Given the description of an element on the screen output the (x, y) to click on. 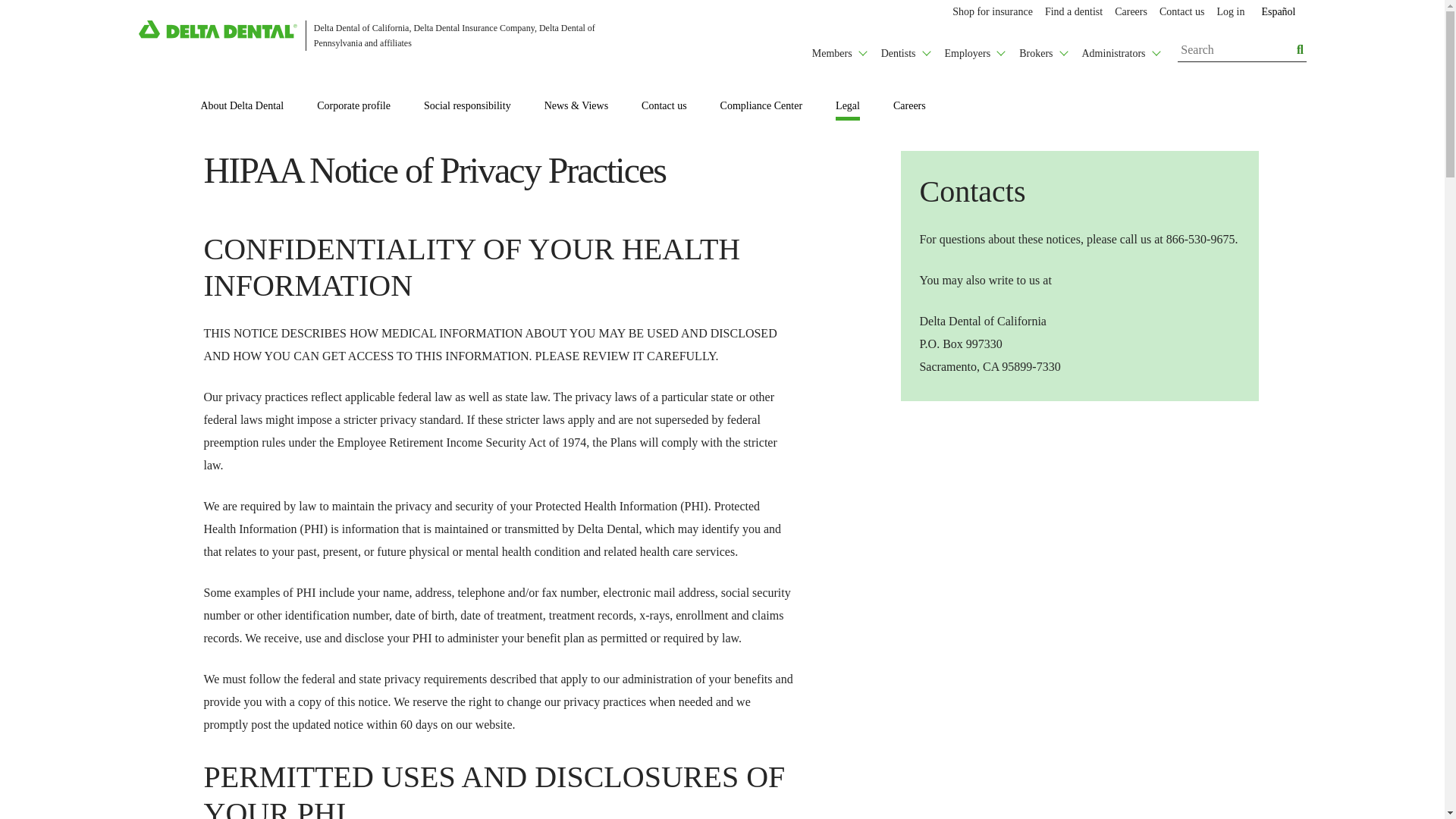
Members (838, 49)
Dentists (905, 49)
Log in (1229, 11)
Contact us (1182, 11)
Careers (1130, 11)
Find a dentist (1073, 11)
Shop for insurance (992, 11)
Employers (974, 49)
